Given the description of an element on the screen output the (x, y) to click on. 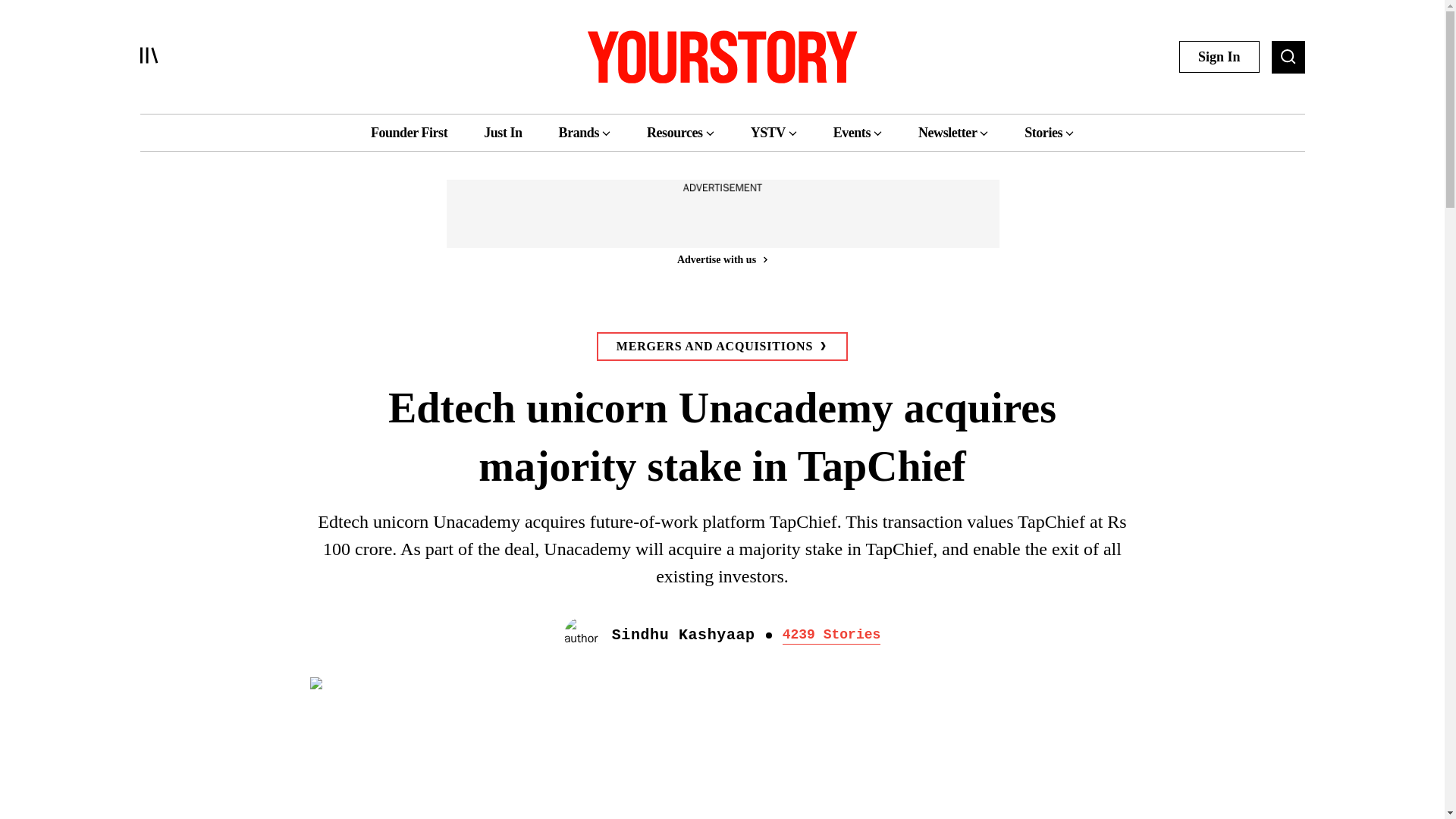
Founder First (408, 132)
4239 Stories (831, 635)
Sindhu Kashyaap (683, 635)
Advertise with us (721, 259)
Just In (502, 132)
MERGERS AND ACQUISITIONS (721, 346)
